Given the description of an element on the screen output the (x, y) to click on. 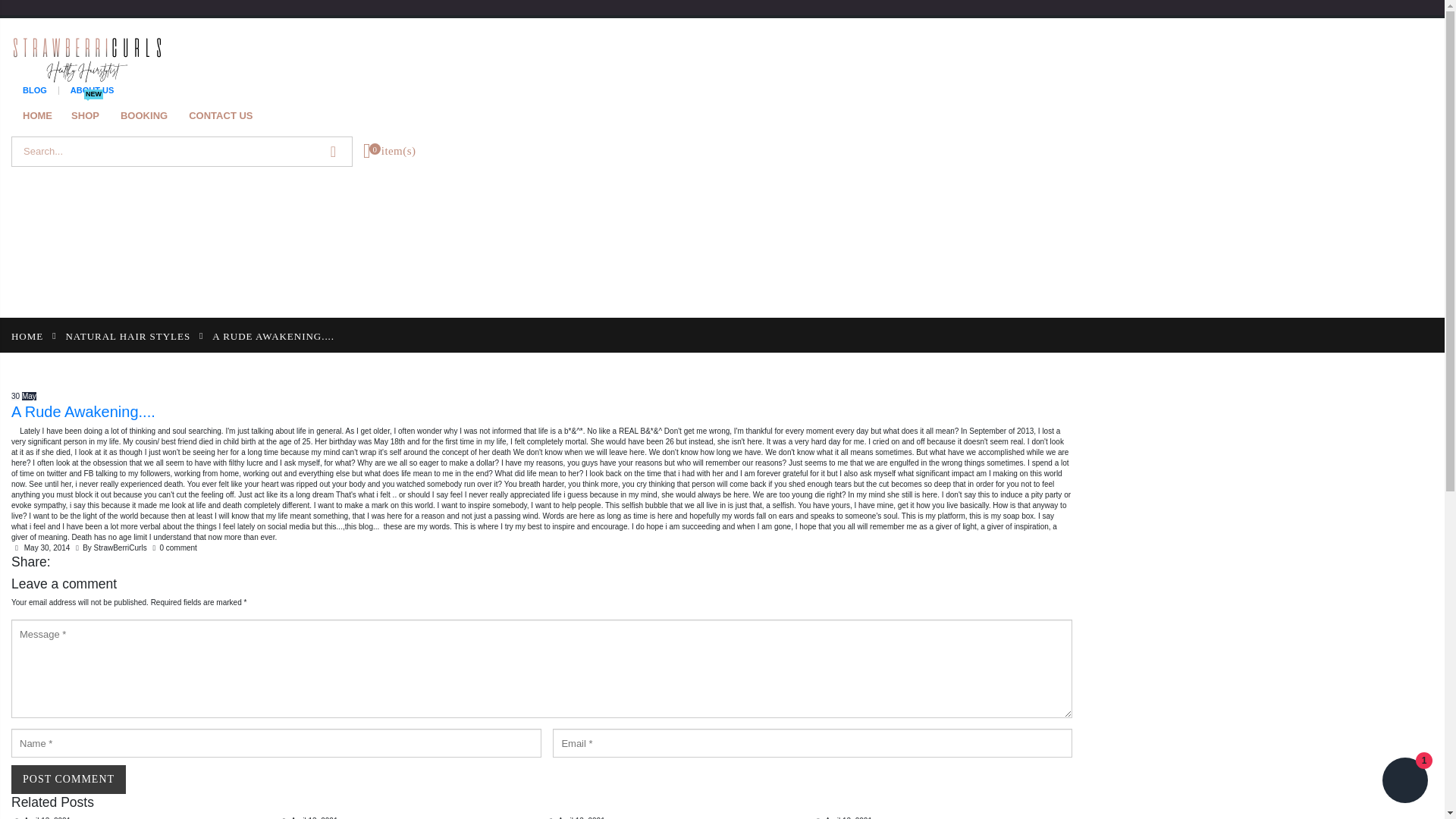
ABOUT US (91, 89)
BOOKING (149, 116)
Back to the frontpage (27, 335)
HOME (27, 335)
NATURAL HAIR STYLES (127, 335)
CONTACT US (226, 116)
HOME (43, 116)
Search (332, 150)
BLOG (34, 89)
Post comment (68, 778)
Post comment (68, 778)
A Rude Awakening.... (541, 412)
